Given the description of an element on the screen output the (x, y) to click on. 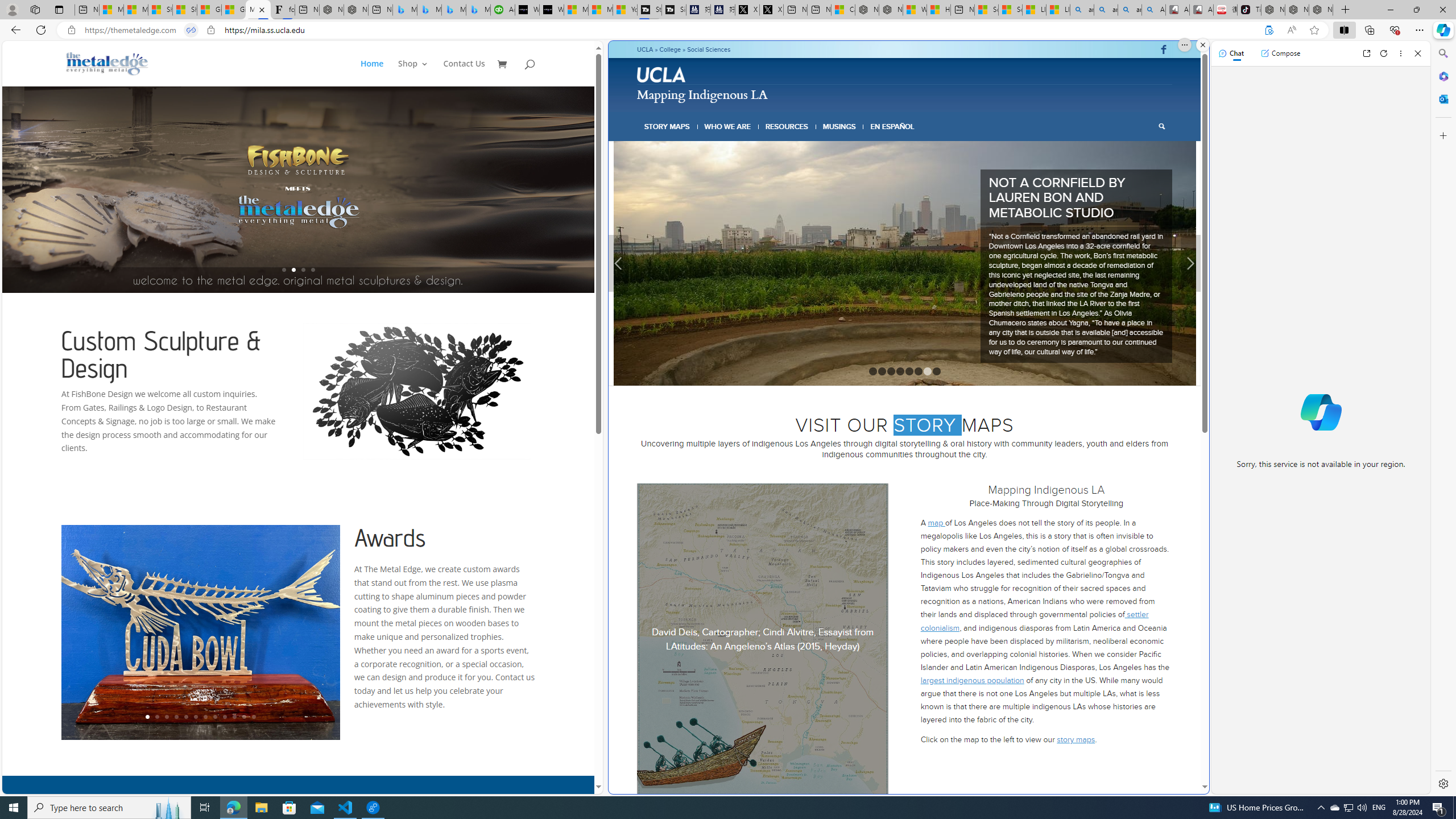
Microsoft 365 (1442, 76)
Gilma and Hector both pose tropical trouble for Hawaii (233, 9)
Microsoft Bing Travel - Stays in Bangkok, Bangkok, Thailand (429, 9)
11 (243, 716)
Close split screen. (1202, 45)
Open link in new tab (1366, 53)
MUSINGS (839, 126)
